Given the description of an element on the screen output the (x, y) to click on. 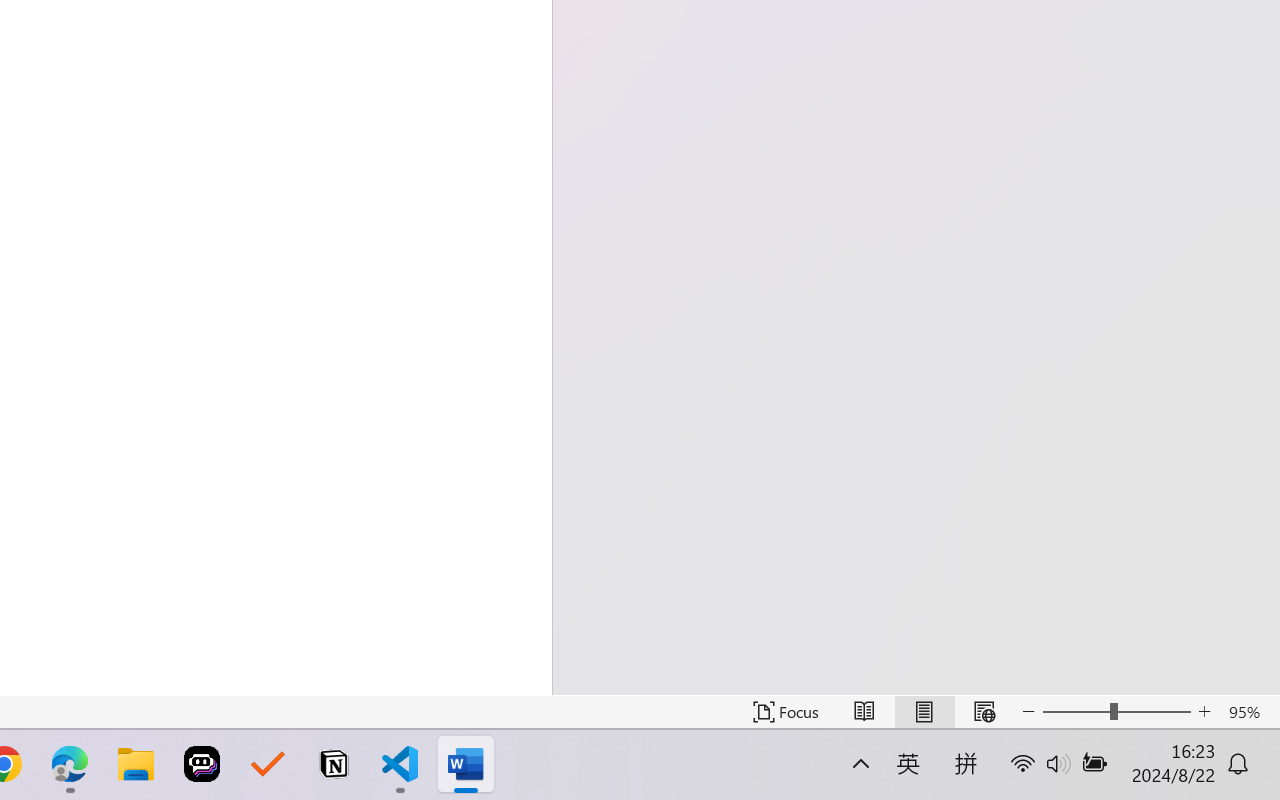
Notion (333, 764)
